Given the description of an element on the screen output the (x, y) to click on. 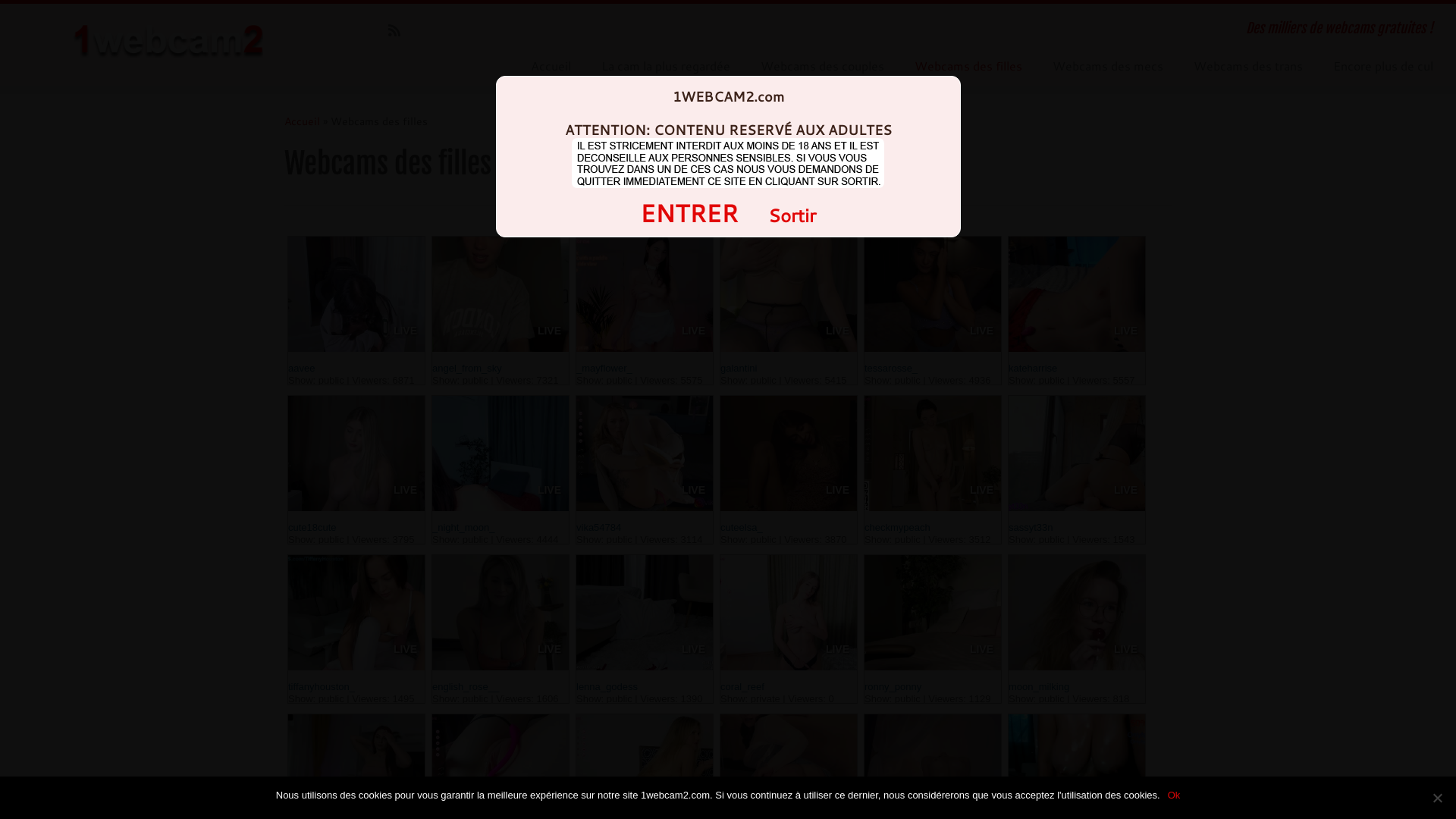
LIVE Element type: text (837, 808)
Webcams des trans Element type: text (1247, 65)
LIVE Element type: text (549, 489)
Webcams des couples Element type: text (822, 65)
LIVE Element type: text (405, 649)
LIVE Element type: text (981, 649)
LIVE Element type: text (549, 649)
LIVE Element type: text (549, 808)
_mayflower_ Element type: text (604, 367)
LIVE Element type: text (693, 489)
Accueil Element type: text (302, 120)
LIVE Element type: text (1125, 489)
LIVE Element type: text (981, 330)
_night_moon_ Element type: text (463, 527)
Webcams des filles Element type: text (968, 65)
vika54784 Element type: text (598, 527)
checkmypeach Element type: text (897, 527)
LIVE Element type: text (693, 808)
LIVE Element type: text (837, 489)
lenna_godess Element type: text (606, 686)
cute18cute Element type: text (312, 527)
angel_from_sky Element type: text (467, 367)
LIVE Element type: text (693, 649)
english_rose__ Element type: text (465, 686)
LIVE Element type: text (837, 649)
Accueil Element type: text (550, 65)
LIVE Element type: text (981, 808)
tiffanyhouston_ Element type: text (321, 686)
aavee Element type: text (301, 367)
cuteelsa_ Element type: text (741, 527)
LIVE Element type: text (981, 489)
ronny_ponny Element type: text (892, 686)
LIVE Element type: text (405, 808)
Webcams des mecs Element type: text (1107, 65)
LIVE Element type: text (405, 330)
Ok Element type: text (1173, 794)
LIVE Element type: text (837, 330)
galantini Element type: text (738, 367)
ENTRER Element type: text (688, 212)
coral_reef Element type: text (742, 686)
LIVE Element type: text (693, 330)
LIVE Element type: text (405, 489)
LIVE Element type: text (1125, 330)
sassyt33n Element type: text (1030, 527)
Encore plus de cul Element type: text (1375, 65)
moon_milking Element type: text (1038, 686)
LIVE Element type: text (1125, 808)
tessarosse_ Element type: text (890, 367)
LIVE Element type: text (1125, 649)
Sortir Element type: text (791, 215)
Abonnez-vous au flux rss Element type: hover (399, 30)
LIVE Element type: text (549, 330)
kateharrise Element type: text (1032, 367)
